Given the description of an element on the screen output the (x, y) to click on. 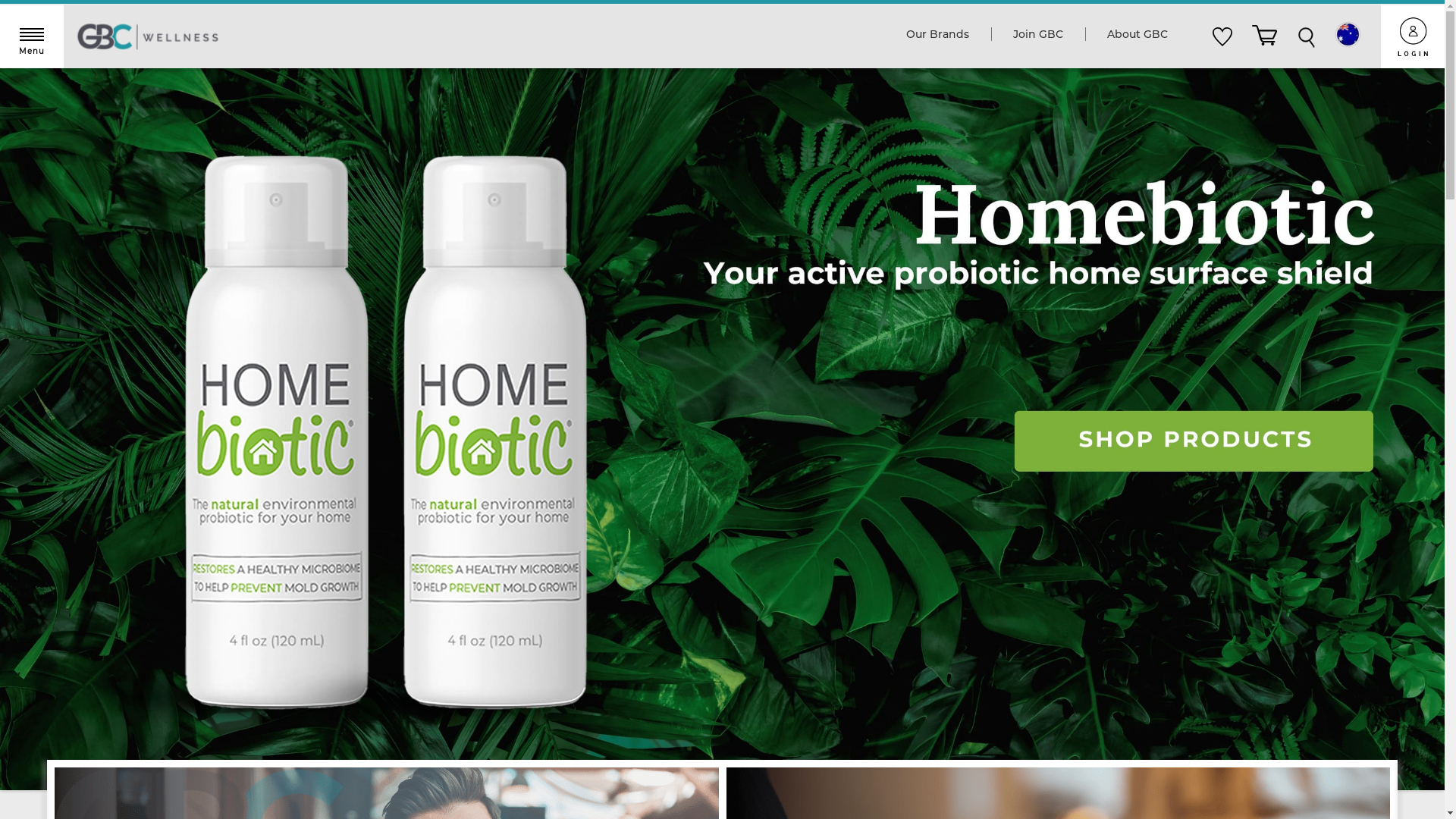
Join GBC Element type: text (1038, 34)
Register Today Element type: text (147, 336)
Our Brands Element type: text (937, 34)
About GBC Element type: text (1137, 34)
Sign Up Element type: text (895, 299)
Sign In Element type: text (800, 300)
